Given the description of an element on the screen output the (x, y) to click on. 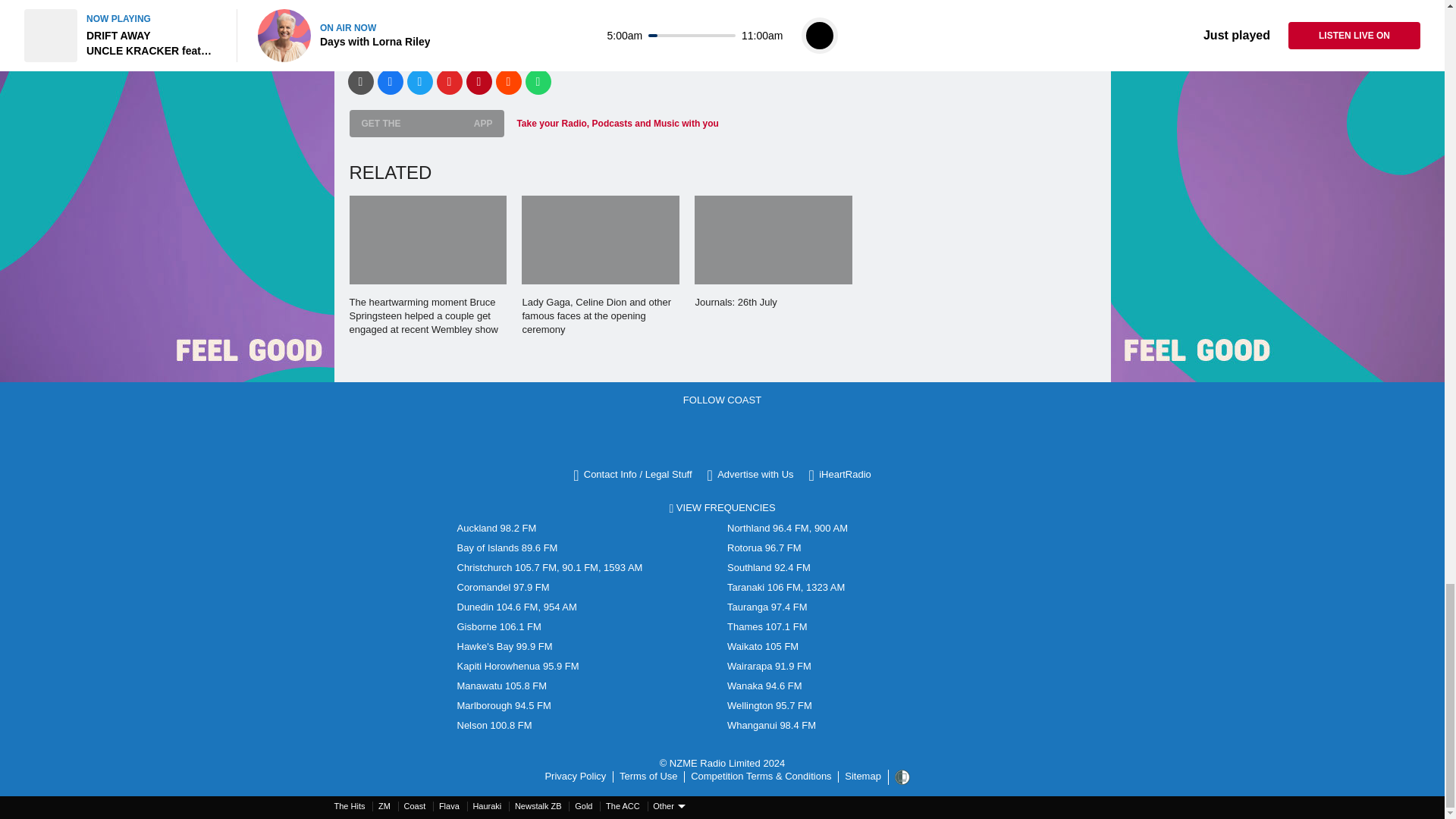
Share with flipboard (449, 81)
Share with whatsapp (537, 81)
Share with pinterest (478, 81)
Share with email (359, 81)
Share with facebook (390, 81)
Share with twitter (419, 81)
Share with reddit (508, 81)
